Given the description of an element on the screen output the (x, y) to click on. 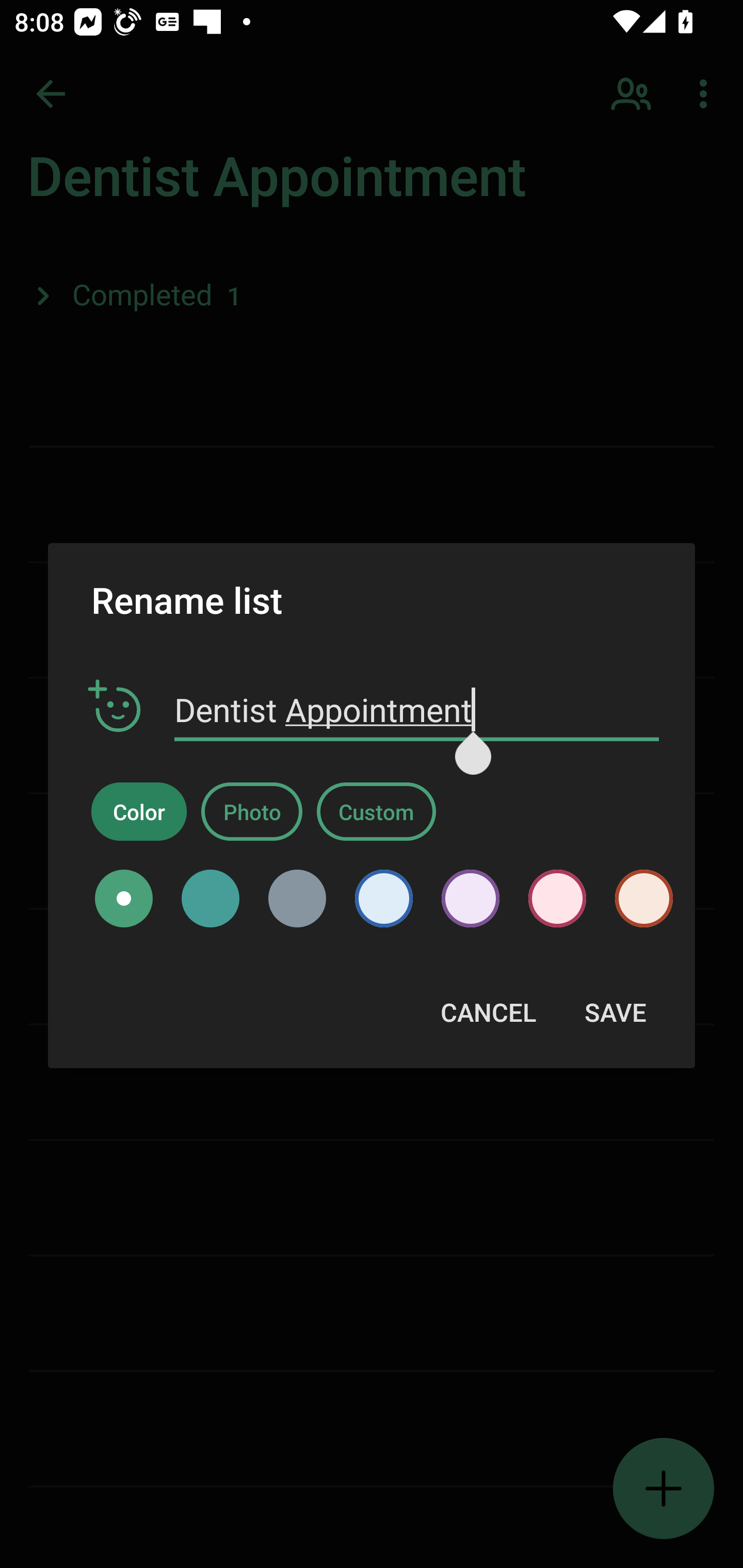
Set Emoji (114, 706)
Dentist Appointment (416, 710)
Color Color category (138, 811)
Photo Photo category (251, 811)
Custom Custom category (376, 811)
Selected, Dark green (123, 898)
Dark teal (210, 898)
Dark grey (297, 898)
Light blue (383, 898)
Light purple (470, 898)
Light rose (557, 898)
Light red (636, 898)
CANCEL (488, 1011)
SAVE (615, 1011)
